Given the description of an element on the screen output the (x, y) to click on. 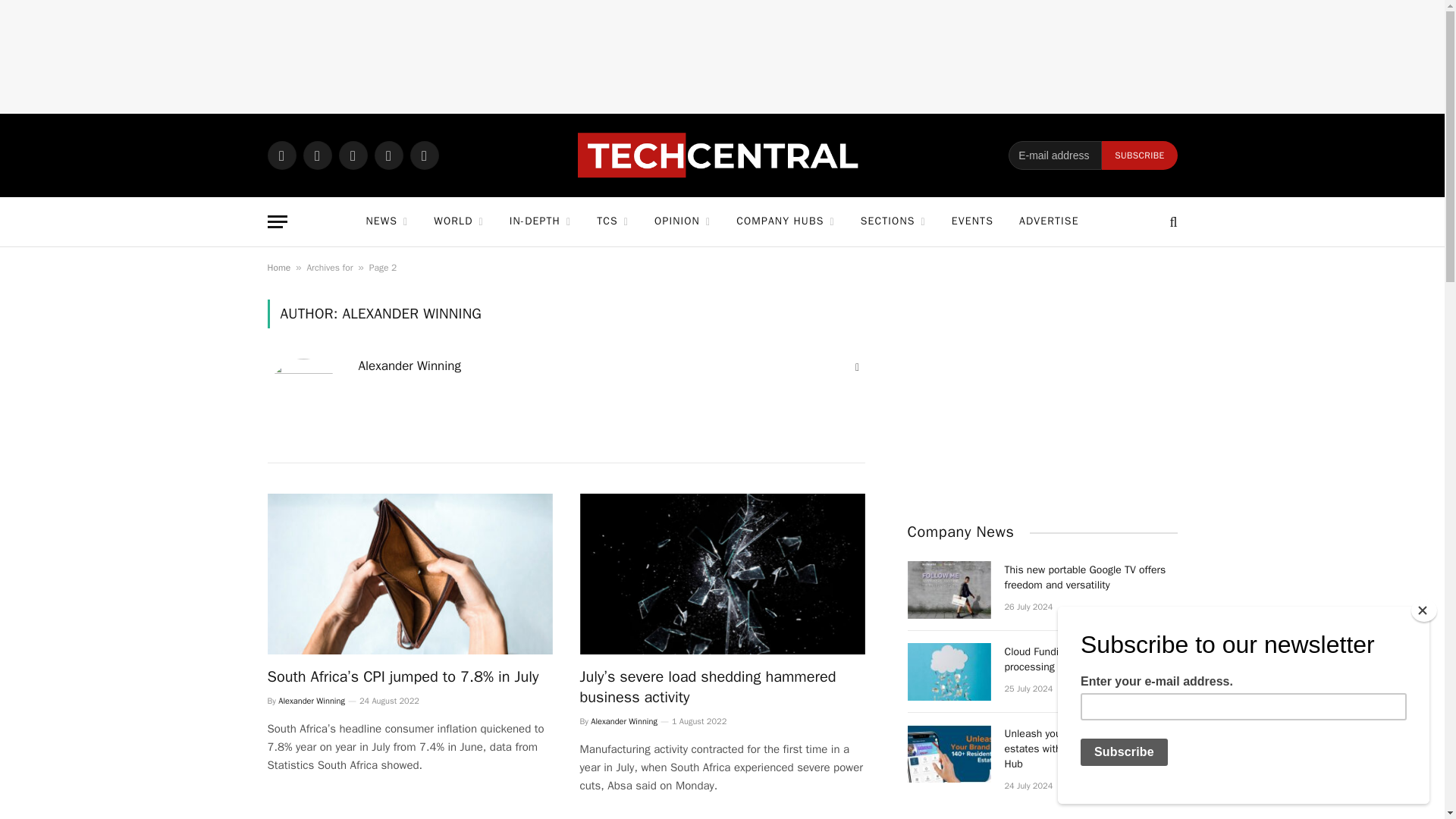
NEWS (386, 221)
Subscribe (1139, 154)
WhatsApp (280, 154)
YouTube (423, 154)
WORLD (458, 221)
Facebook (316, 154)
LinkedIn (388, 154)
3rd party ad content (721, 56)
IN-DEPTH (539, 221)
Subscribe (1139, 154)
TechCentral (722, 155)
